Given the description of an element on the screen output the (x, y) to click on. 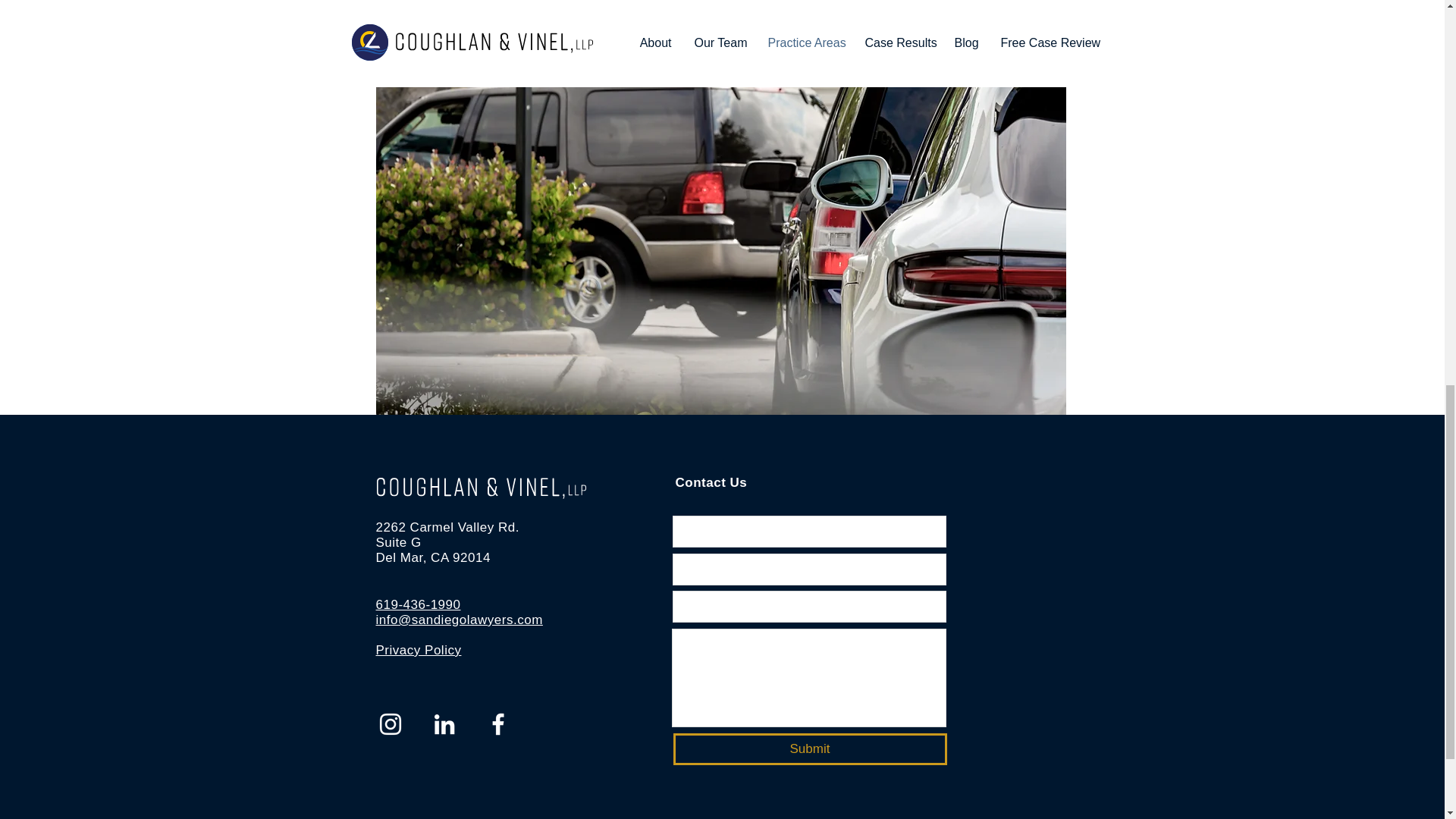
Submit (809, 748)
619-436-1990 (418, 604)
Privacy Policy (418, 649)
